Given the description of an element on the screen output the (x, y) to click on. 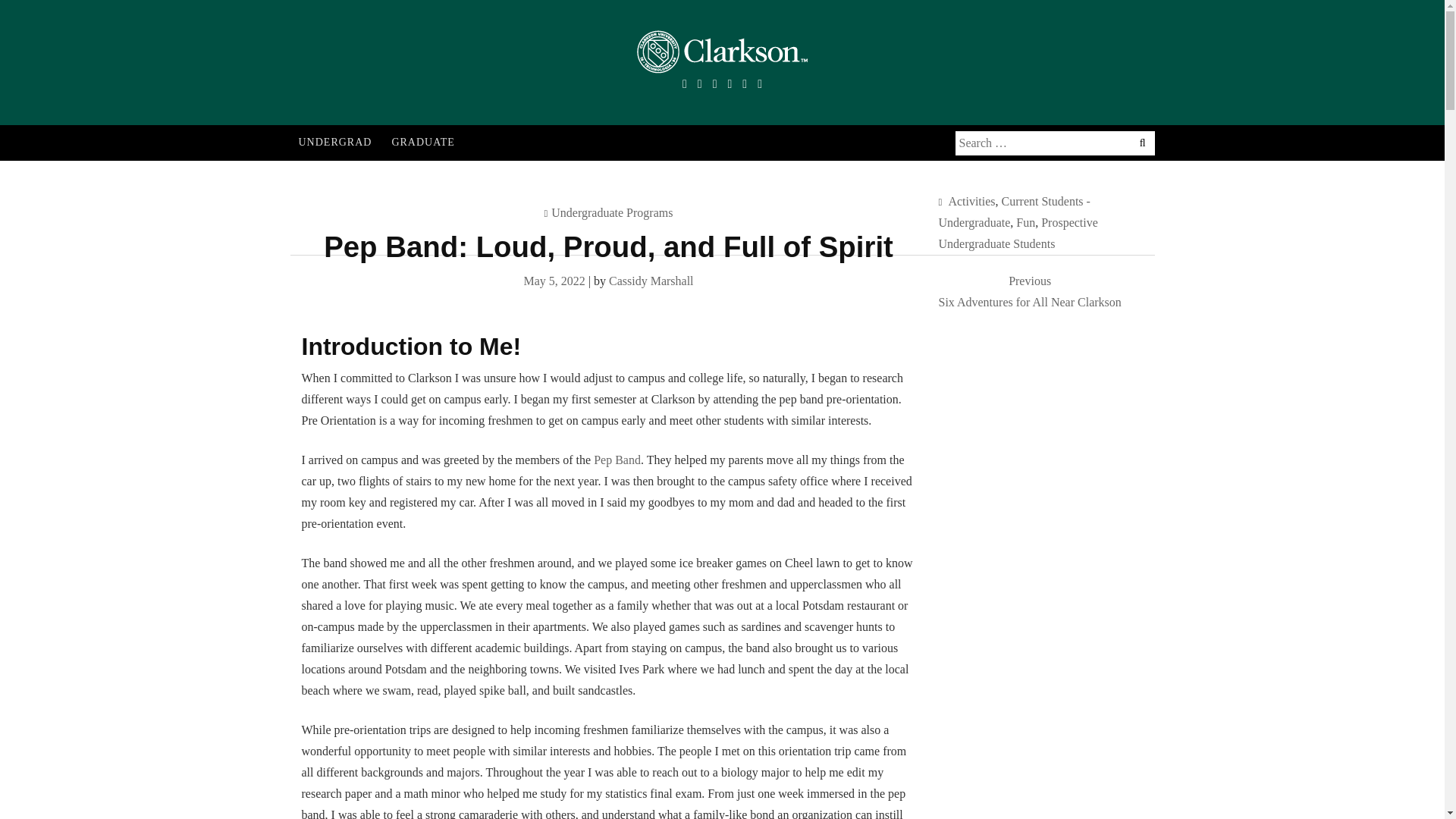
Prospective Undergraduate Students (1018, 232)
Current Students - Undergraduate (1014, 211)
Undergraduate Programs (1030, 291)
May 5, 2022 (611, 212)
BLOG AT CLARKSON UNIVERSITY (553, 280)
Activities (535, 90)
Fun (970, 200)
GRADUATE (1025, 221)
Cassidy Marshall (422, 142)
Pep Band (651, 280)
Search (617, 459)
UNDERGRAD (99, 12)
